Given the description of an element on the screen output the (x, y) to click on. 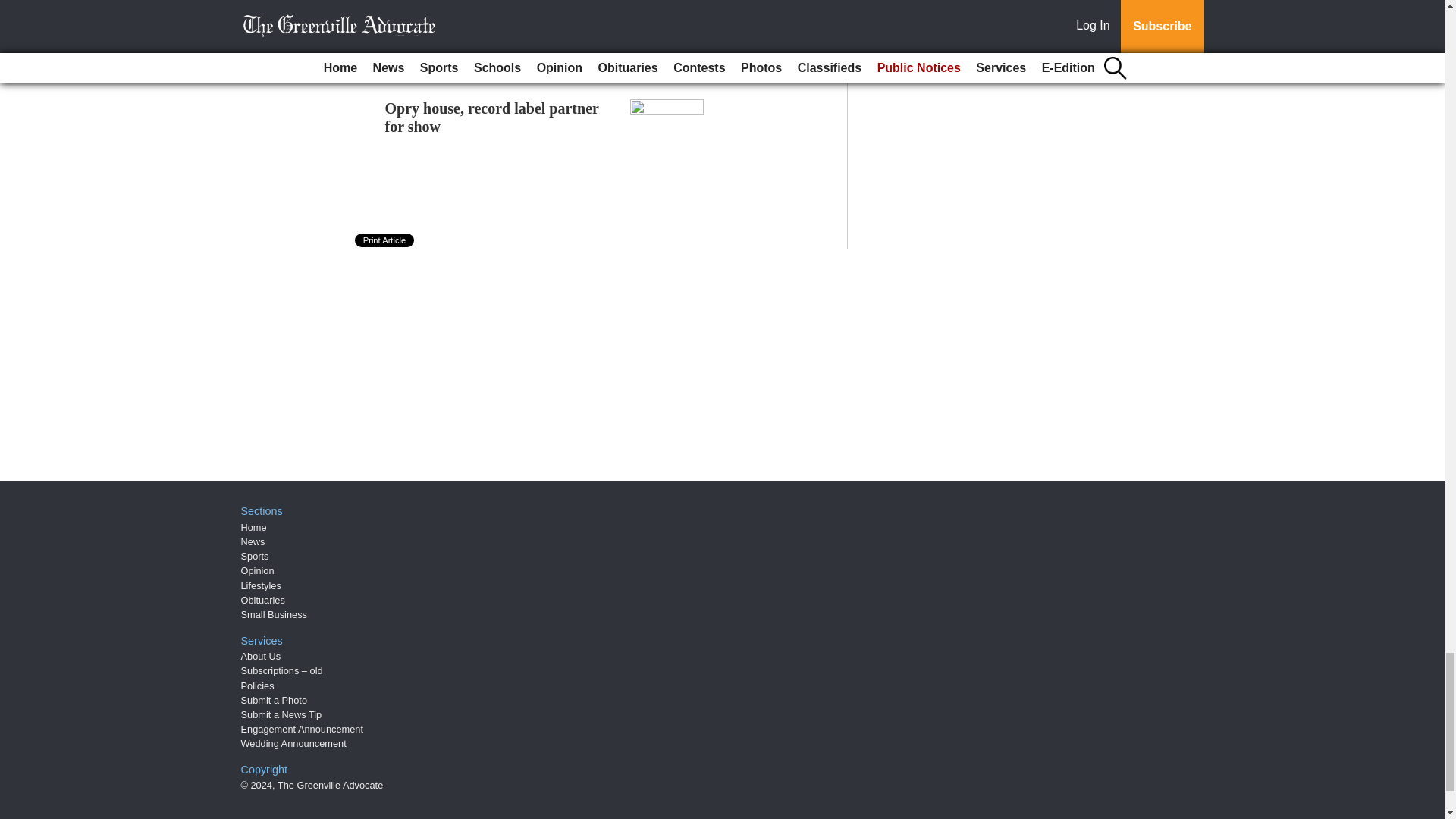
Opry house, record label partner for show (491, 116)
Opry house, record label partner for show (491, 116)
Print Article (384, 240)
